Given the description of an element on the screen output the (x, y) to click on. 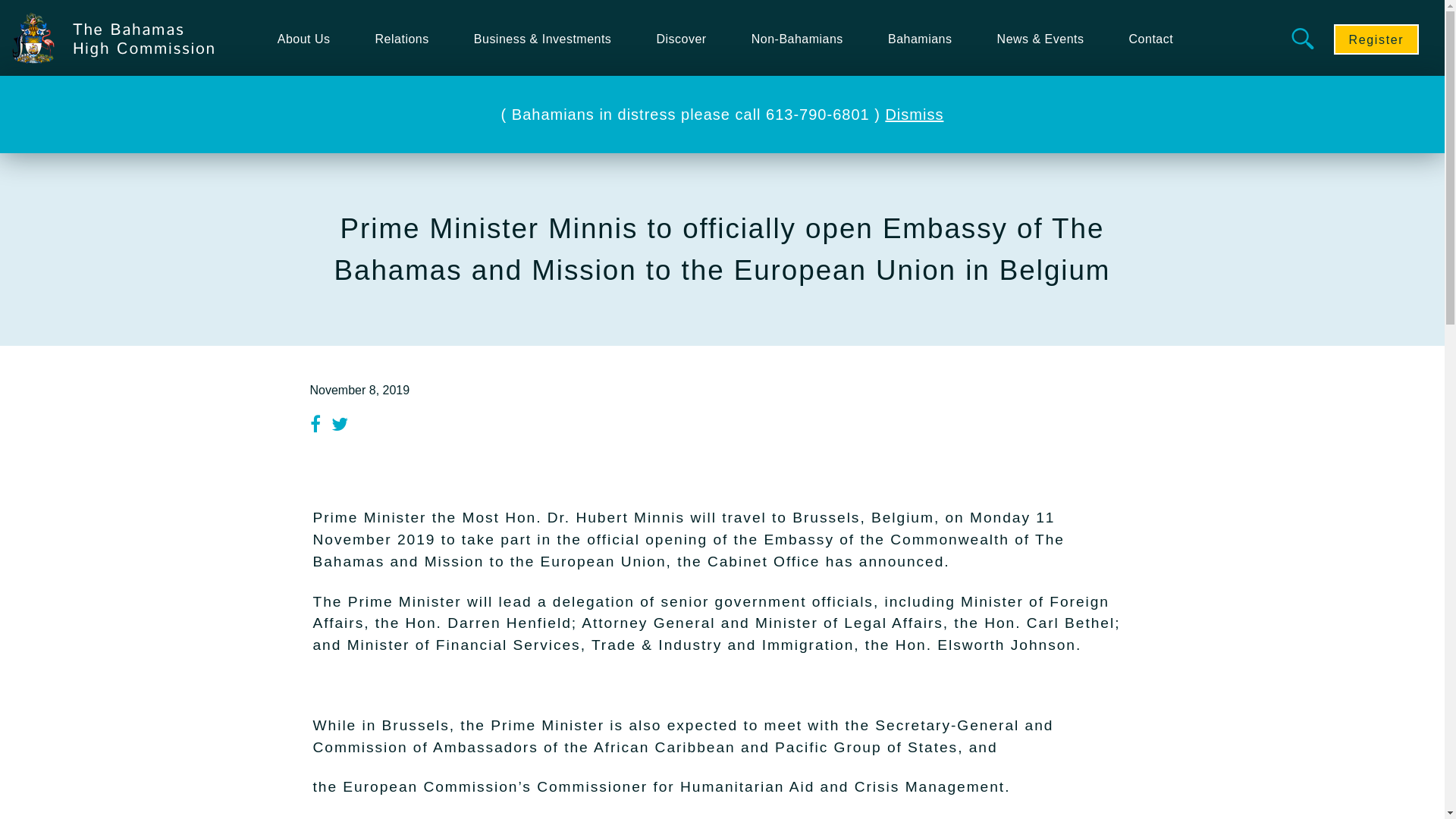
Dismiss Element type: text (913, 114)
About Us Element type: text (300, 39)
Discover Element type: text (677, 39)
Bahamians Element type: text (916, 39)
Contact Element type: text (1148, 39)
Non-Bahamians Element type: text (794, 39)
Relations Element type: text (399, 39)
News & Events Element type: text (1037, 39)
Business & Investments Element type: text (539, 39)
Register Element type: text (1375, 38)
